Given the description of an element on the screen output the (x, y) to click on. 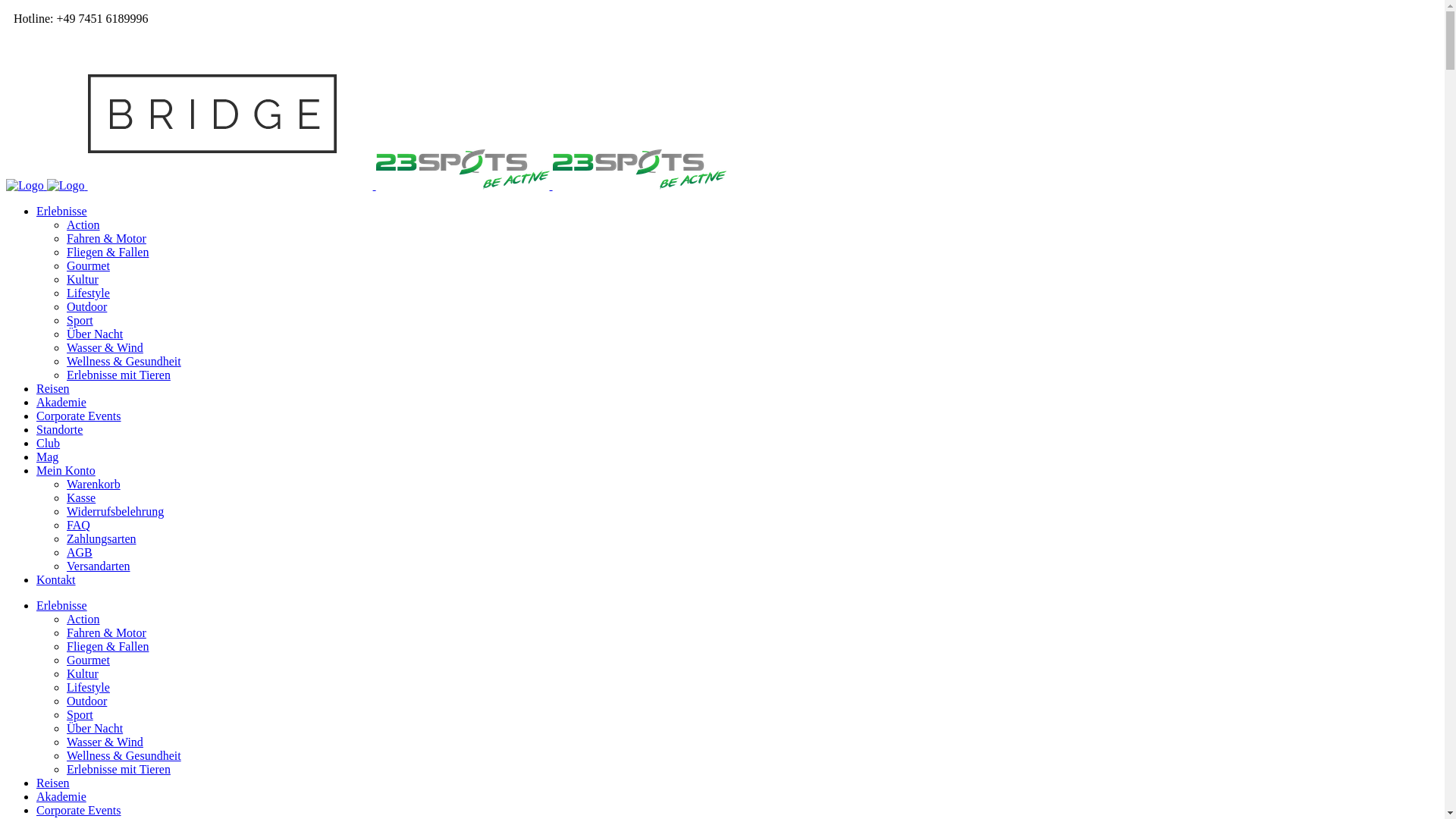
Kasse Element type: text (80, 497)
Fahren & Motor Element type: text (106, 238)
FAQ Element type: text (78, 524)
Versandarten Element type: text (98, 565)
Kultur Element type: text (82, 673)
Outdoor Element type: text (86, 700)
Reisen Element type: text (52, 388)
Reisen Element type: text (52, 782)
Wellness & Gesundheit Element type: text (123, 360)
Action Element type: text (83, 618)
Mag Element type: text (47, 456)
Fliegen & Fallen Element type: text (107, 251)
Erlebnisse Element type: text (61, 210)
Akademie Element type: text (61, 401)
Akademie Element type: text (61, 796)
Erlebnisse mit Tieren Element type: text (118, 768)
Fahren & Motor Element type: text (106, 632)
Wasser & Wind Element type: text (104, 741)
AGB Element type: text (79, 552)
Mein Konto Element type: text (65, 470)
Sport Element type: text (79, 319)
Fliegen & Fallen Element type: text (107, 646)
Warenkorb Element type: text (93, 483)
Wellness & Gesundheit Element type: text (123, 755)
Corporate Events Element type: text (78, 415)
Erlebnisse Element type: text (61, 605)
Lifestyle Element type: text (87, 292)
Widerrufsbelehrung Element type: text (114, 511)
Lifestyle Element type: text (87, 686)
Kultur Element type: text (82, 279)
Gourmet Element type: text (87, 265)
Standorte Element type: text (59, 429)
Gourmet Element type: text (87, 659)
Kontakt Element type: text (55, 579)
Erlebnisse mit Tieren Element type: text (118, 374)
Corporate Events Element type: text (78, 809)
Action Element type: text (83, 224)
Outdoor Element type: text (86, 306)
Wasser & Wind Element type: text (104, 347)
Club Element type: text (47, 442)
Zahlungsarten Element type: text (101, 538)
Sport Element type: text (79, 714)
